Given the description of an element on the screen output the (x, y) to click on. 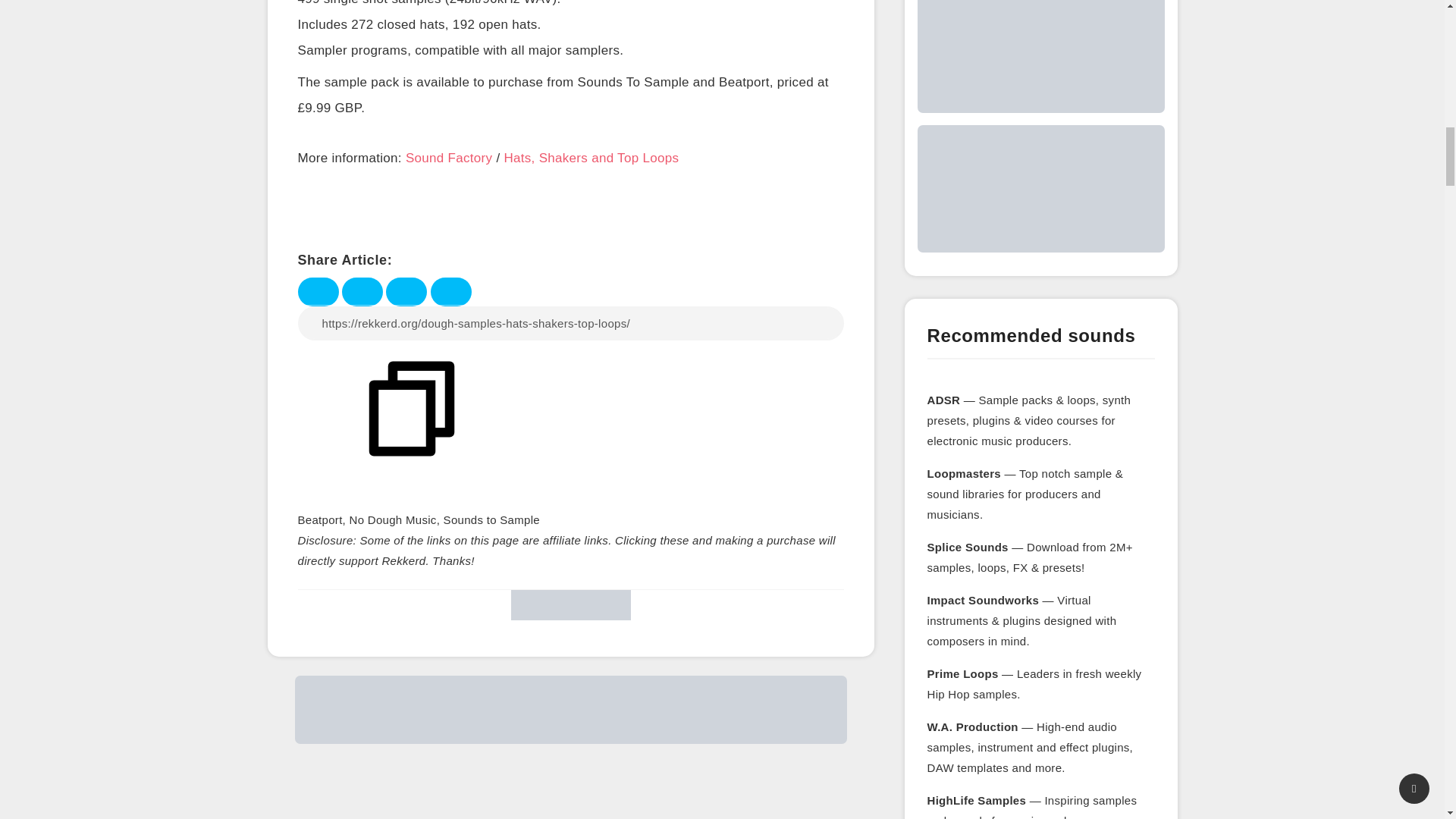
Beatport (319, 519)
No Dough Music (392, 519)
Hats, Shakers and Top Loops (590, 159)
Sounds to Sample (492, 519)
Sound Factory (449, 159)
